Given the description of an element on the screen output the (x, y) to click on. 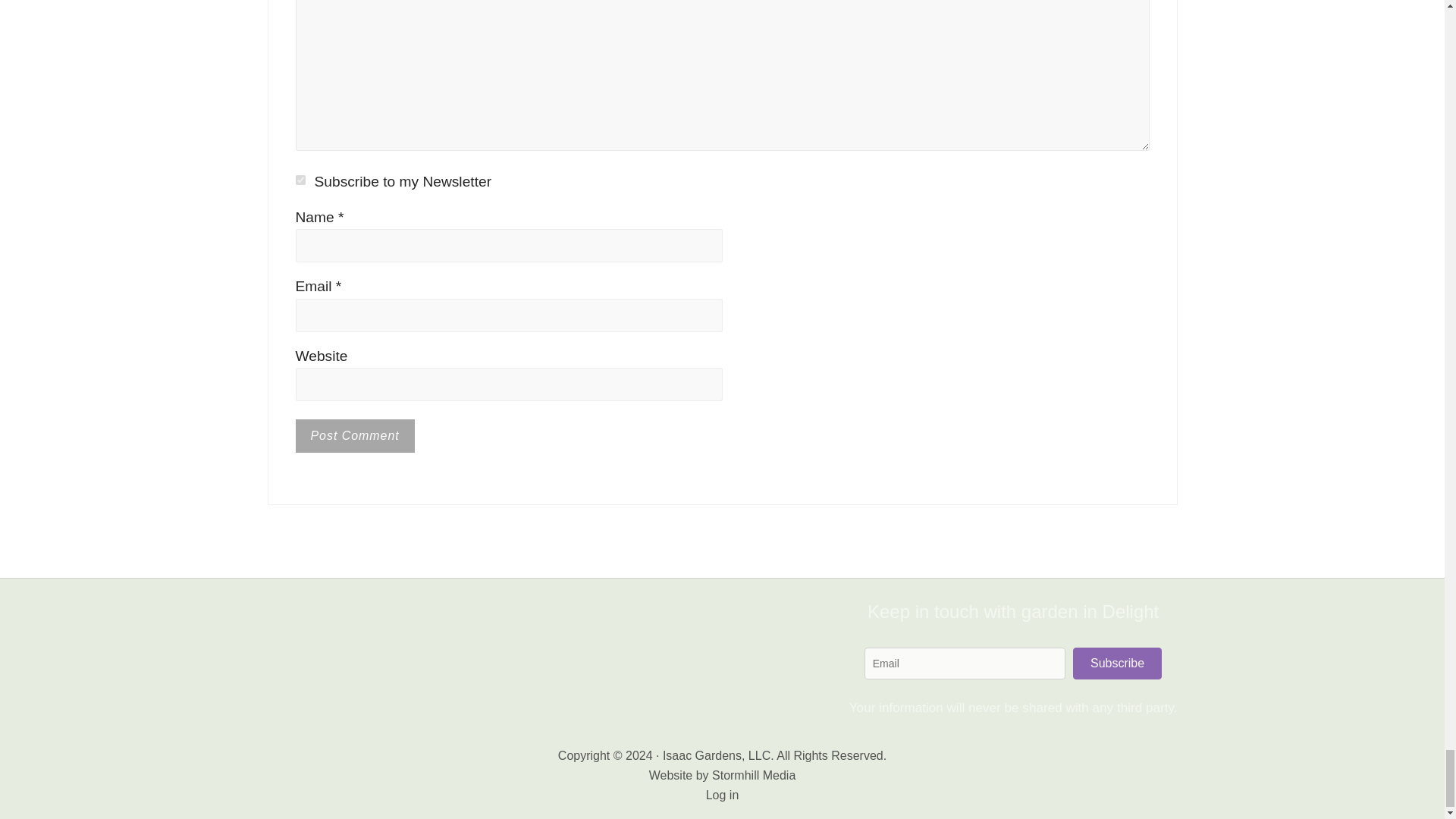
Post Comment (354, 435)
1 (300, 180)
